Given the description of an element on the screen output the (x, y) to click on. 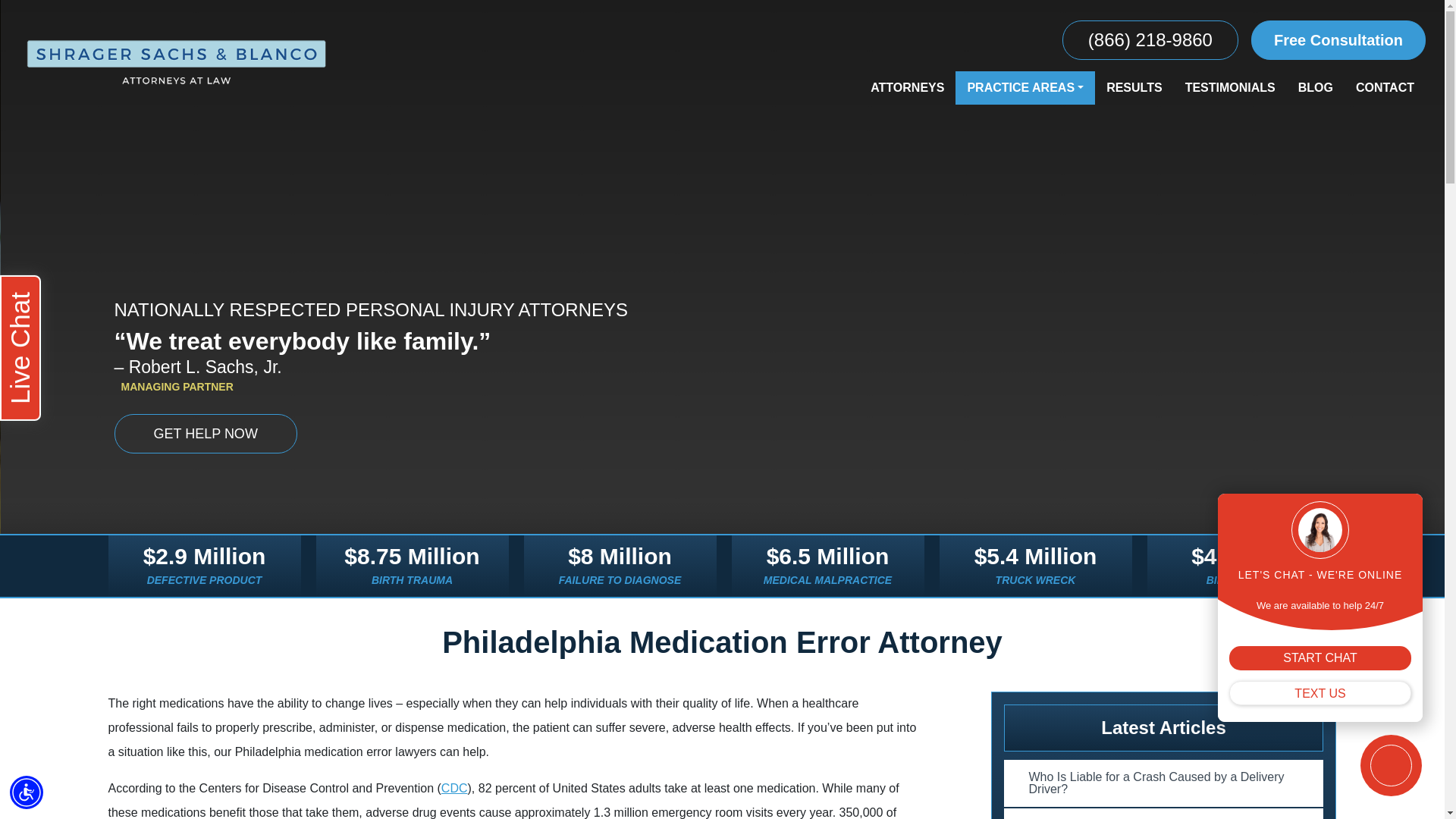
BLOG (1315, 87)
Accessibility Menu (26, 792)
CDC (454, 788)
ATTORNEYS (907, 87)
How Sleep Deprivation Causes Car Accidents (1163, 813)
Free Consultation (1337, 39)
CONTACT (1384, 87)
GET HELP NOW (205, 433)
Who Is Liable for a Crash Caused by a Delivery Driver? (1163, 783)
PRACTICE AREAS (1024, 87)
TESTIMONIALS (1230, 87)
RESULTS (1133, 87)
